Given the description of an element on the screen output the (x, y) to click on. 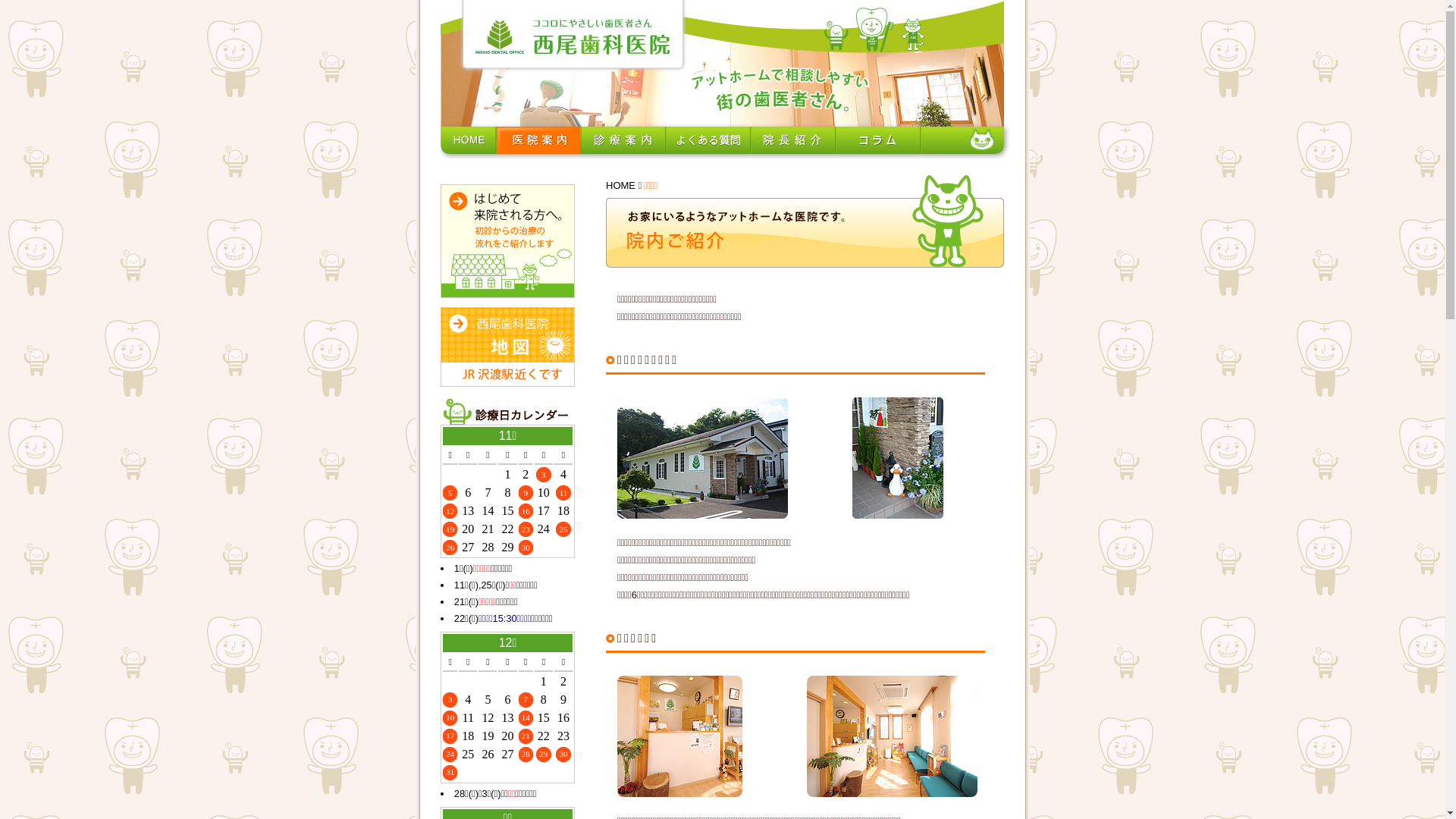
HOME Element type: text (620, 185)
